Given the description of an element on the screen output the (x, y) to click on. 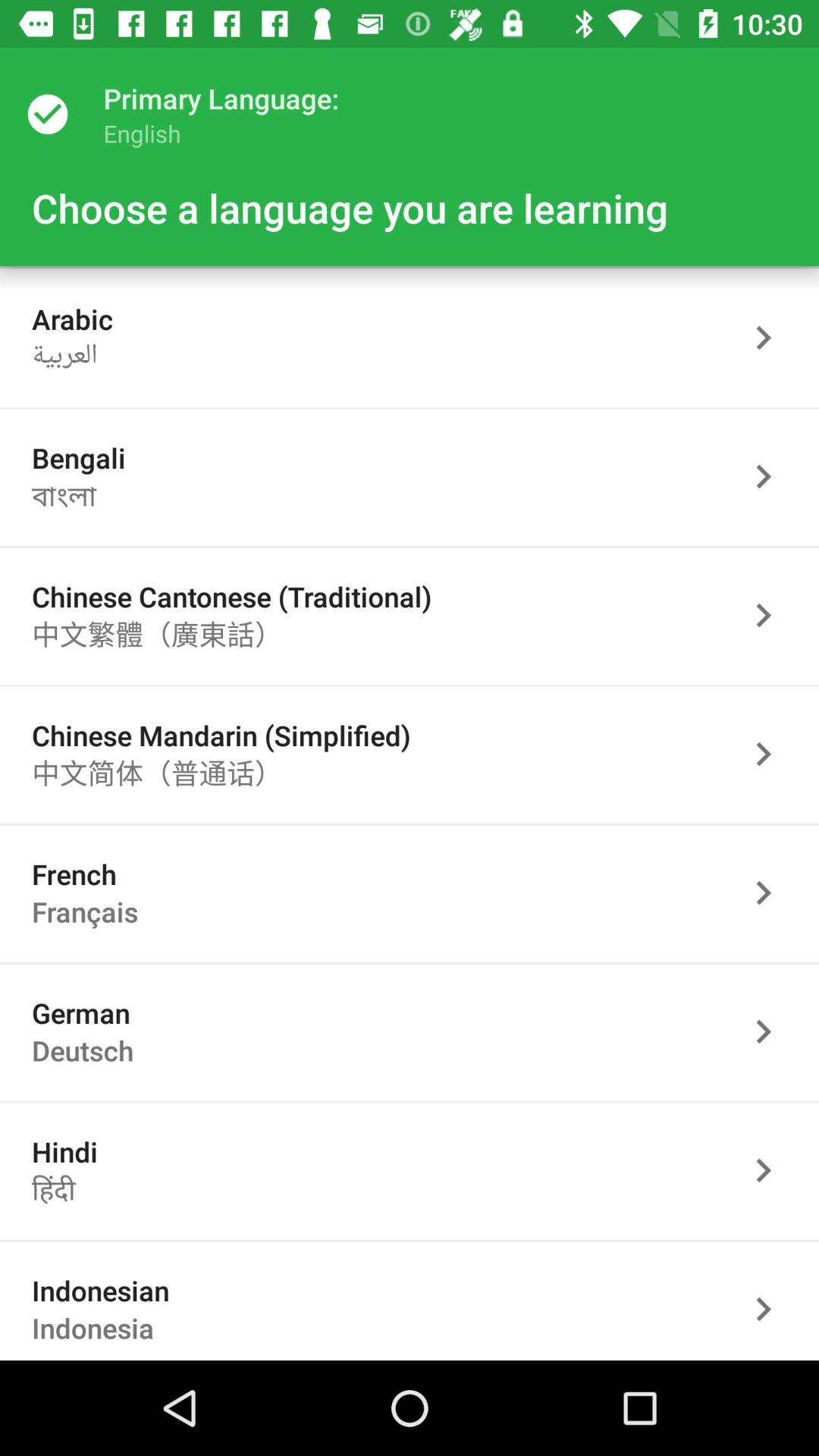
go to the selected page (771, 1170)
